Given the description of an element on the screen output the (x, y) to click on. 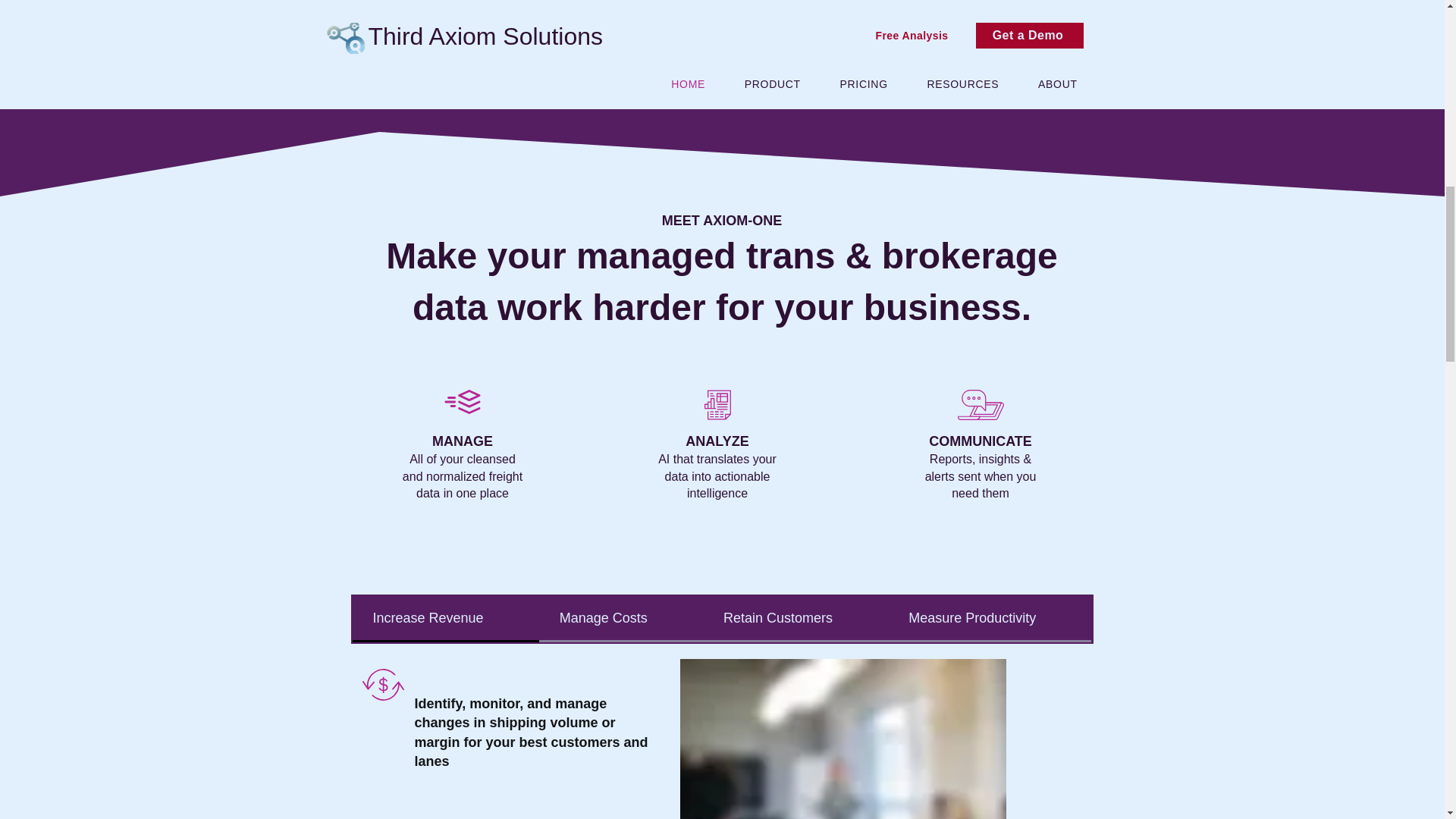
Office Workspace (842, 739)
